Given the description of an element on the screen output the (x, y) to click on. 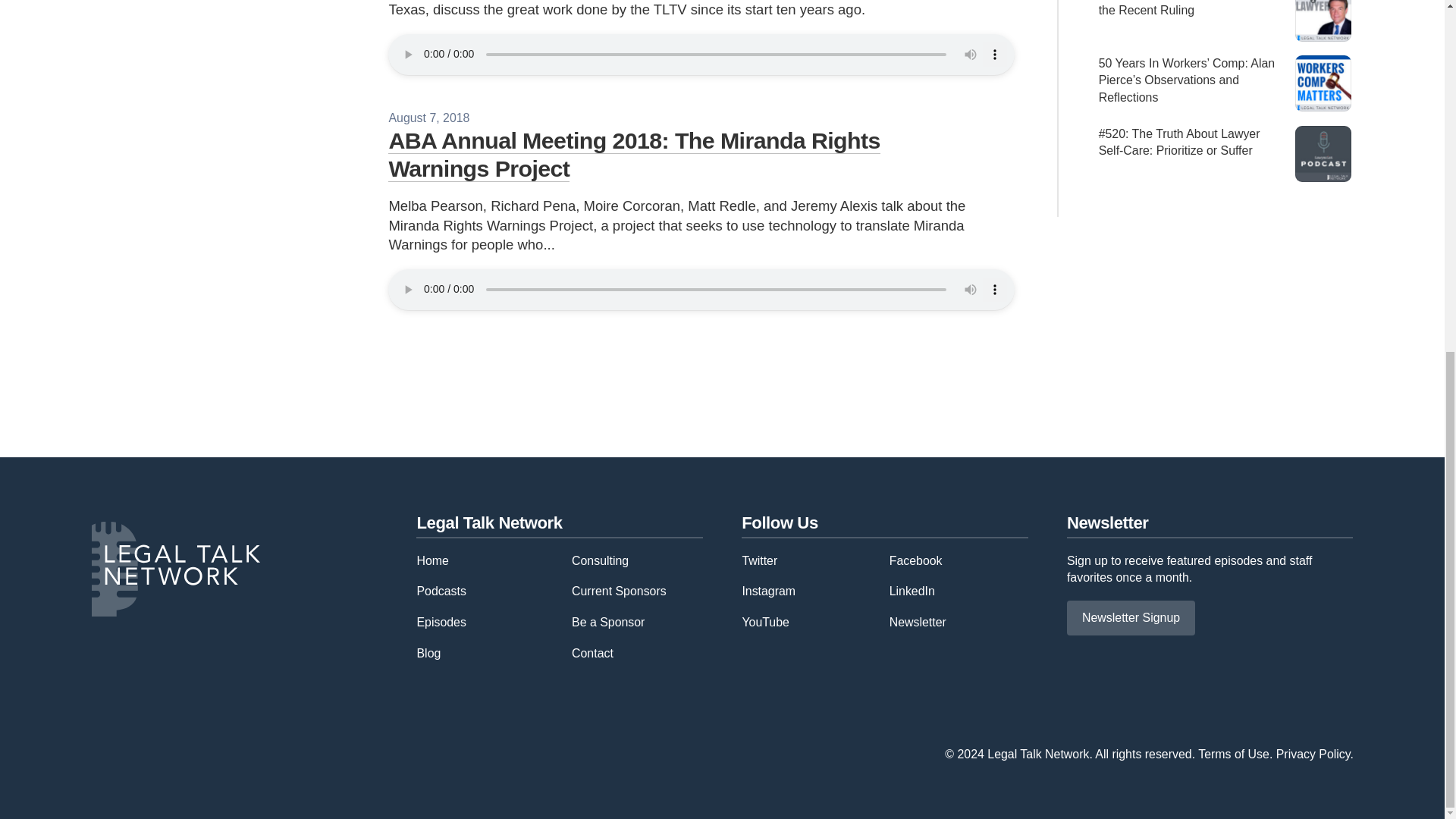
ABA Annual Meeting 2018: The Miranda Rights Warnings Project (633, 153)
Home (432, 560)
Podcasts (440, 590)
Blog (428, 653)
Consulting (600, 560)
Twitter (759, 560)
Facebook (915, 560)
Instagram (767, 590)
Episodes (440, 621)
Contact (592, 653)
